Given the description of an element on the screen output the (x, y) to click on. 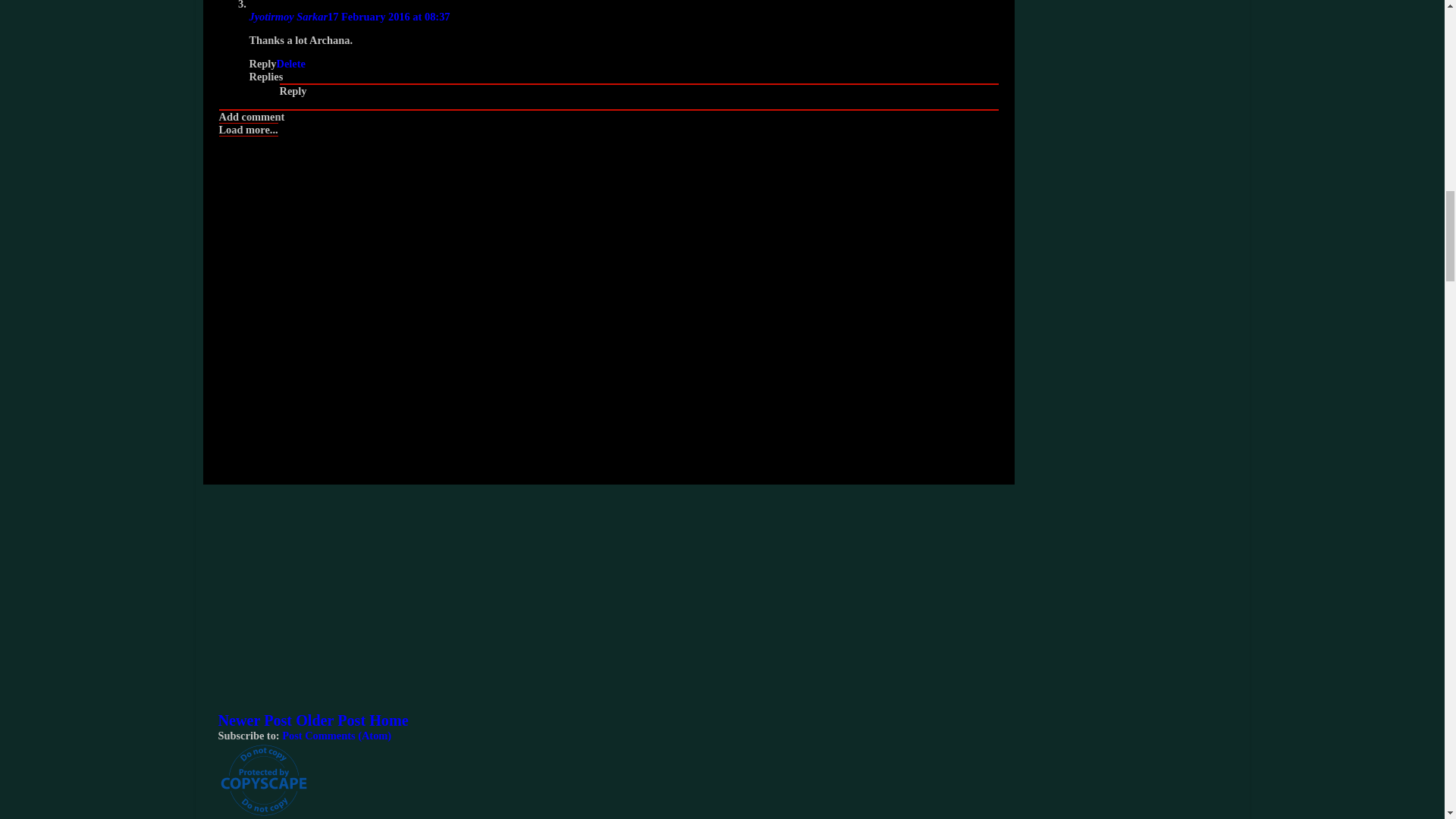
Reply (292, 91)
Newer Post (255, 719)
Add comment (250, 116)
17 February 2016 at 08:37 (388, 16)
Older Post (330, 719)
Delete (290, 63)
Replies (265, 76)
Newer Post (255, 719)
Reply (262, 63)
Older Post (330, 719)
Load more... (248, 129)
Protected by Copyscape - Do not copy content from this page. (263, 780)
Jyotirmoy Sarkar (287, 16)
